Given the description of an element on the screen output the (x, y) to click on. 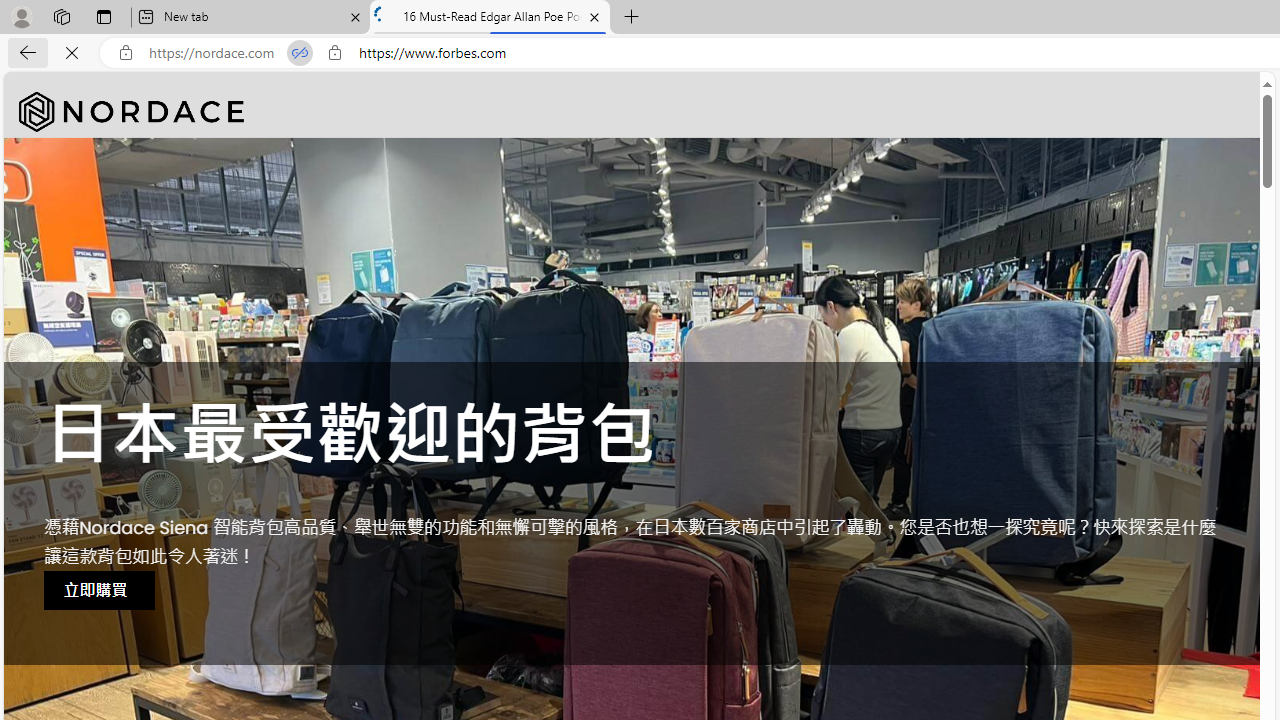
Tabs in split screen (299, 53)
16 Must-Read Edgar Allan Poe Poems And Short Stories (490, 17)
